Given the description of an element on the screen output the (x, y) to click on. 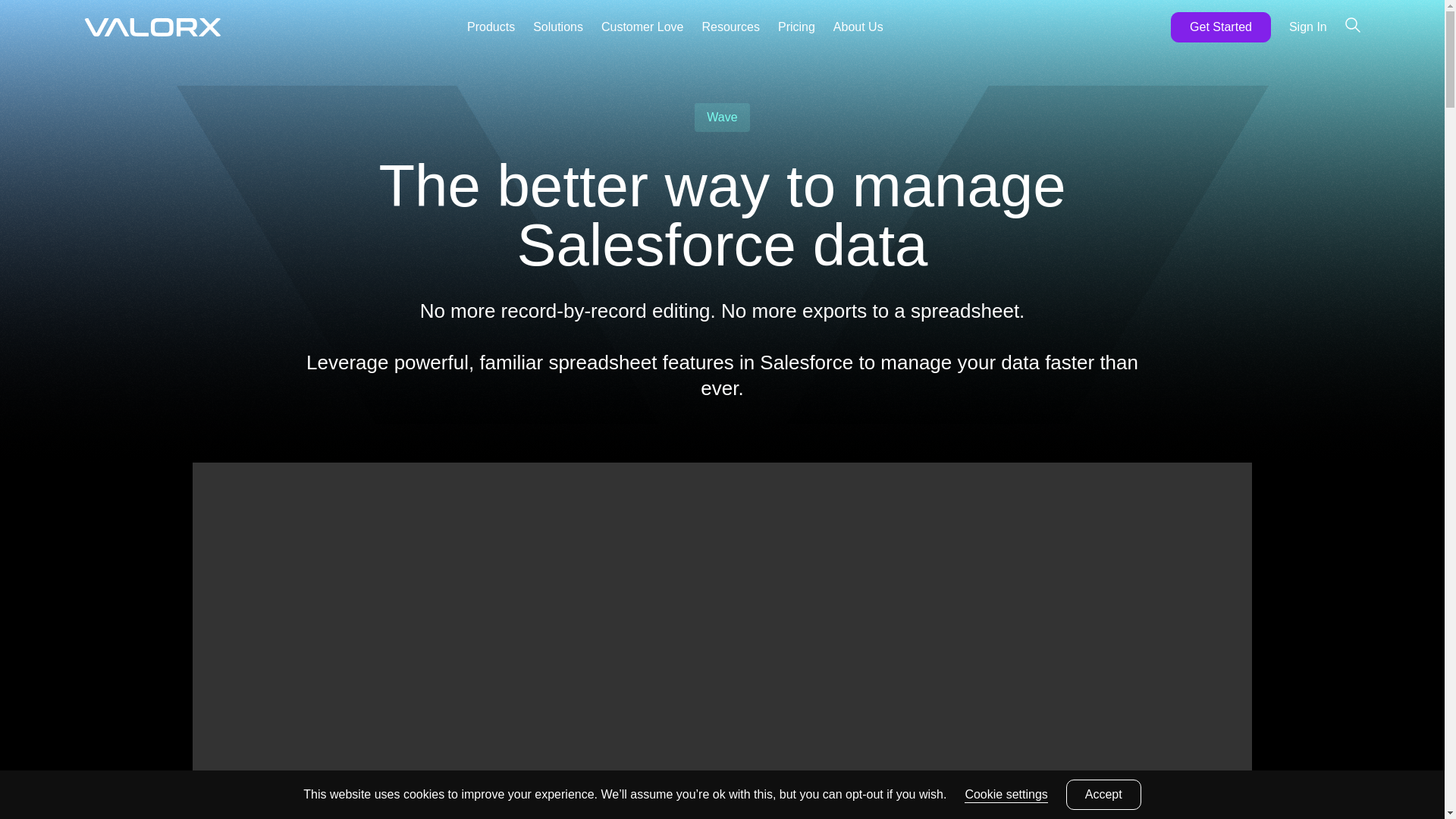
Products (491, 27)
Solutions (557, 27)
Customer Love (642, 27)
Resources (729, 27)
Chat (1403, 779)
